Given the description of an element on the screen output the (x, y) to click on. 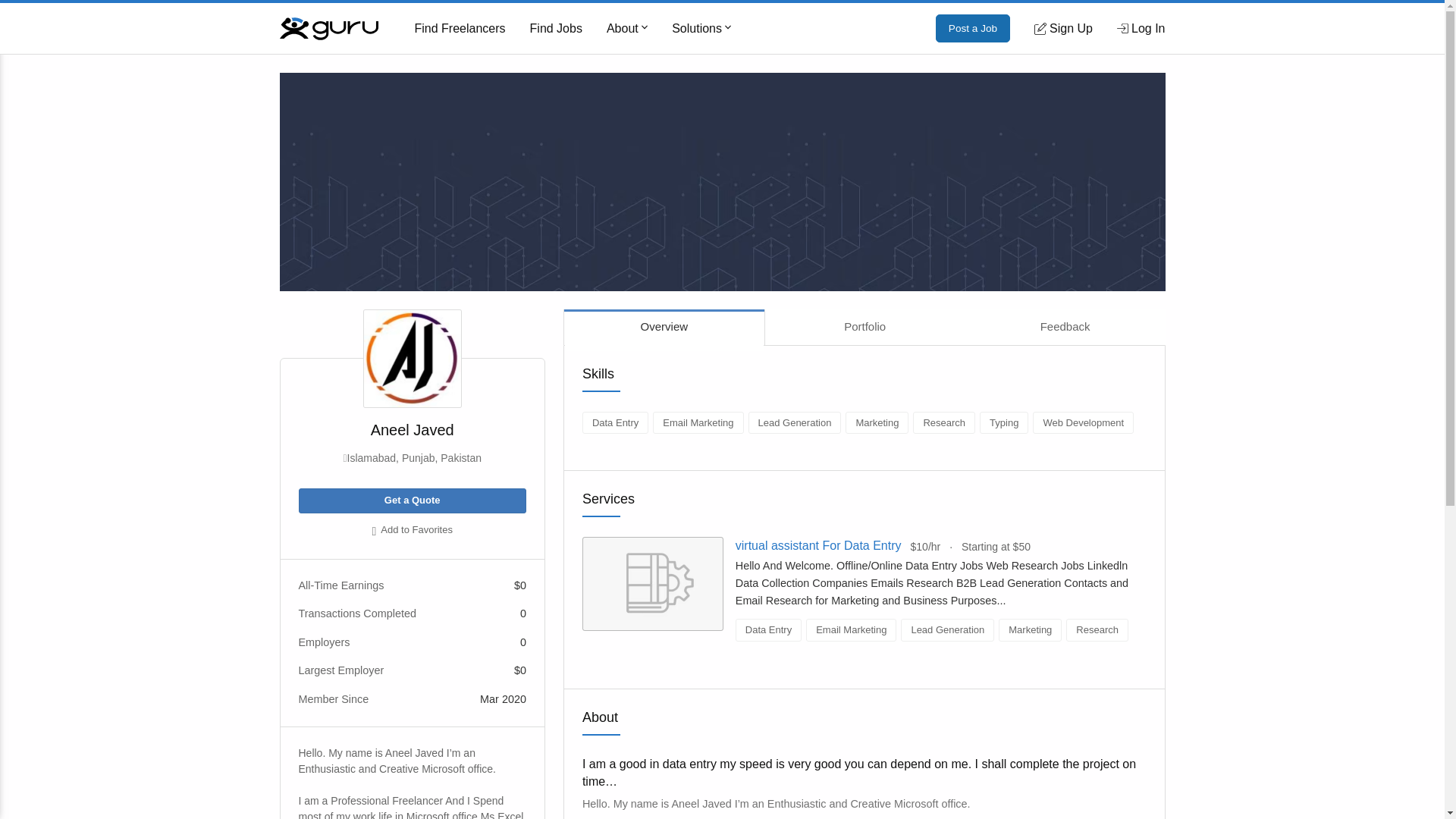
Find a Freelancer (459, 28)
Post a Job (973, 28)
Post a Job (973, 28)
Get a Quote (411, 500)
Sign Up (1063, 28)
Find a Job (555, 28)
Find Freelancers (459, 28)
Find Jobs (555, 28)
Add to Favorites (411, 531)
Log In (1140, 28)
Overview (664, 326)
Guru (328, 27)
